Given the description of an element on the screen output the (x, y) to click on. 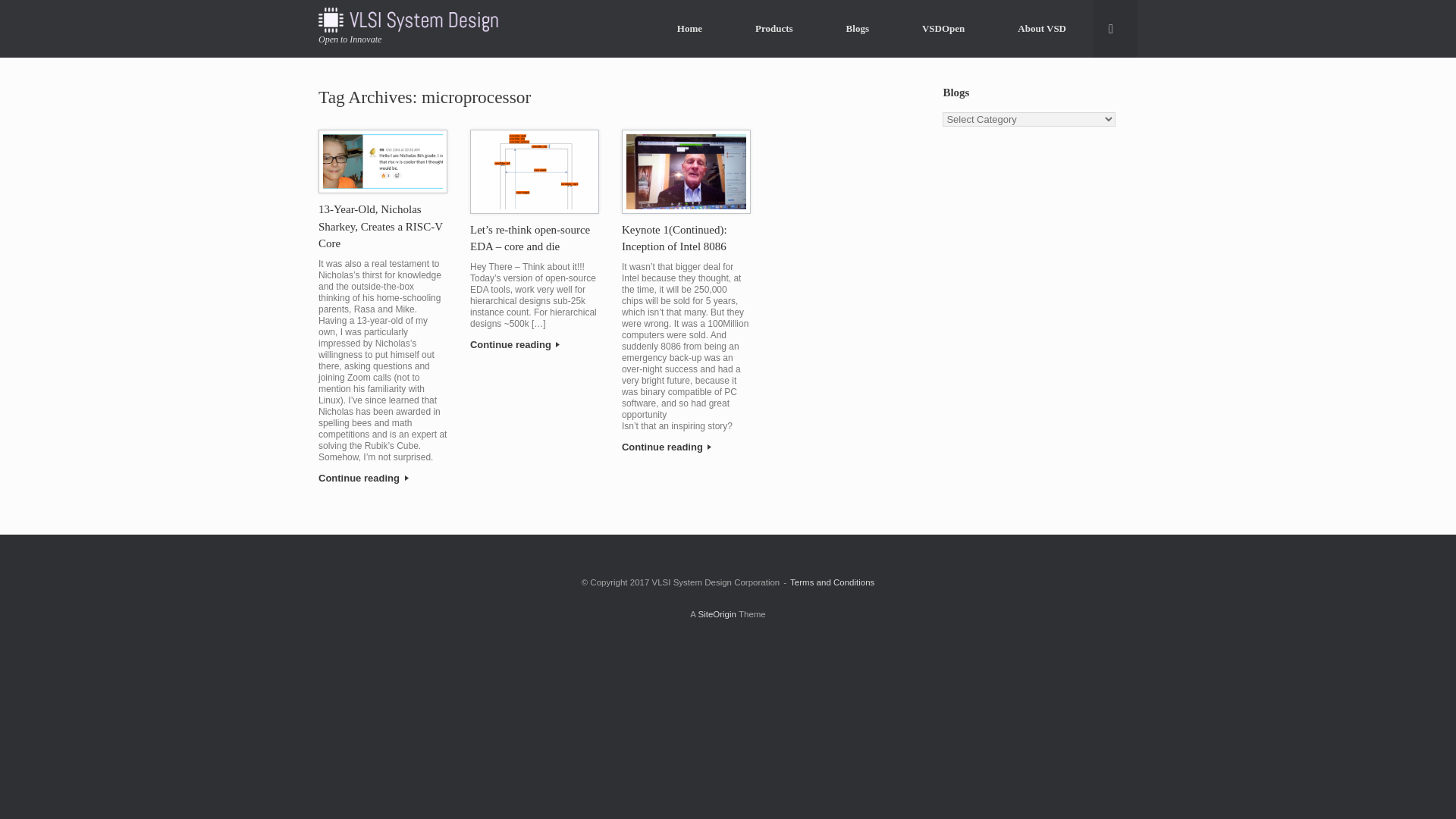
About VSD (1042, 28)
Products (774, 28)
13-Year-Old, Nicholas Sharkey, Creates a RISC-V Core (380, 226)
VLSI System Design (415, 20)
Continue reading (382, 478)
Blogs (857, 28)
Home (689, 28)
VSDOpen (943, 28)
